Given the description of an element on the screen output the (x, y) to click on. 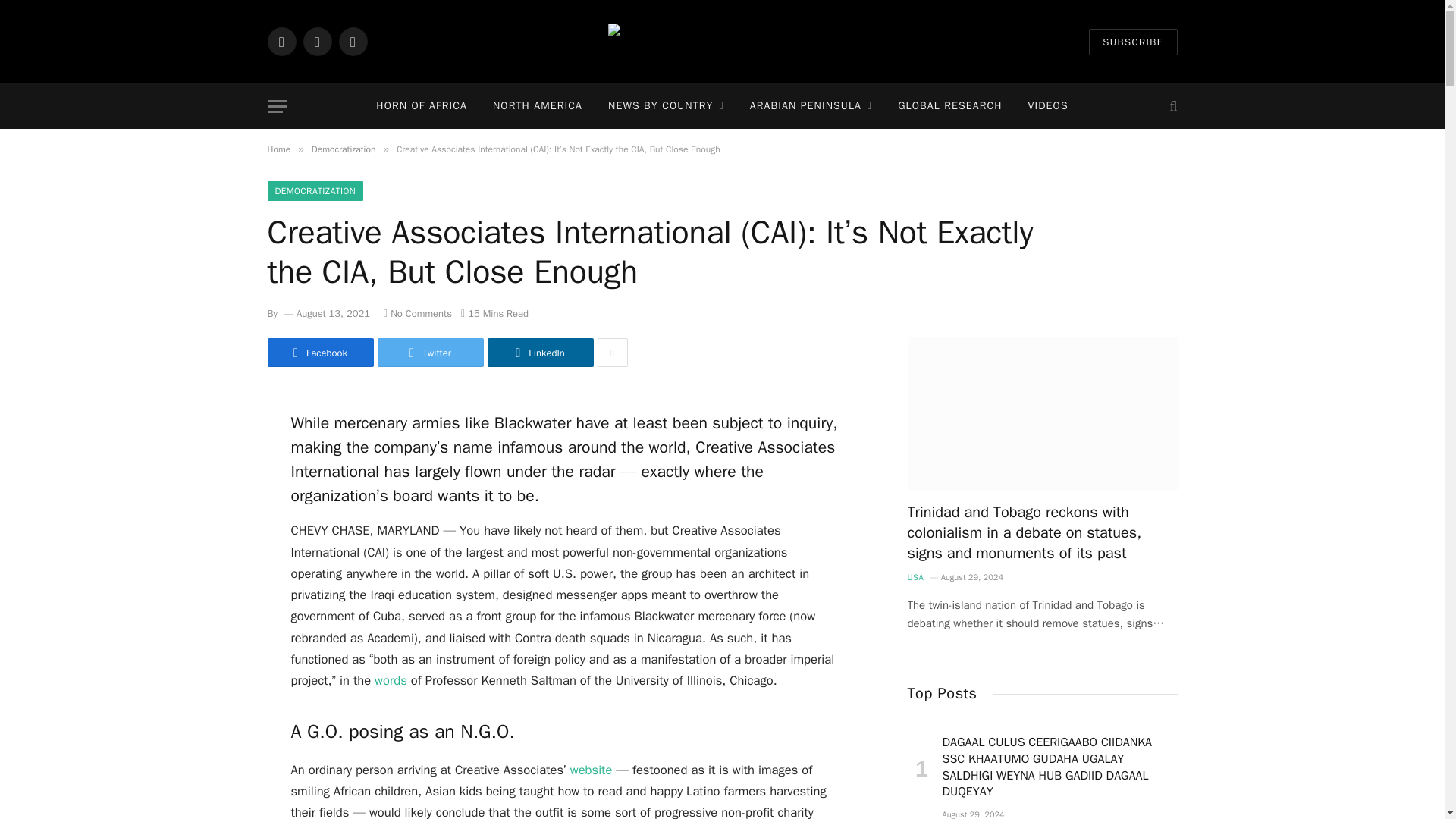
Share on LinkedIn (539, 352)
Share on Facebook (319, 352)
Instagram (351, 41)
Show More Social Sharing (611, 352)
NORTH AMERICA (537, 105)
ARABIAN PENINSULA (810, 105)
HORN OF AFRICA (421, 105)
NEWS BY COUNTRY (665, 105)
SUBSCRIBE (1132, 41)
Horn Observers (721, 41)
